Given the description of an element on the screen output the (x, y) to click on. 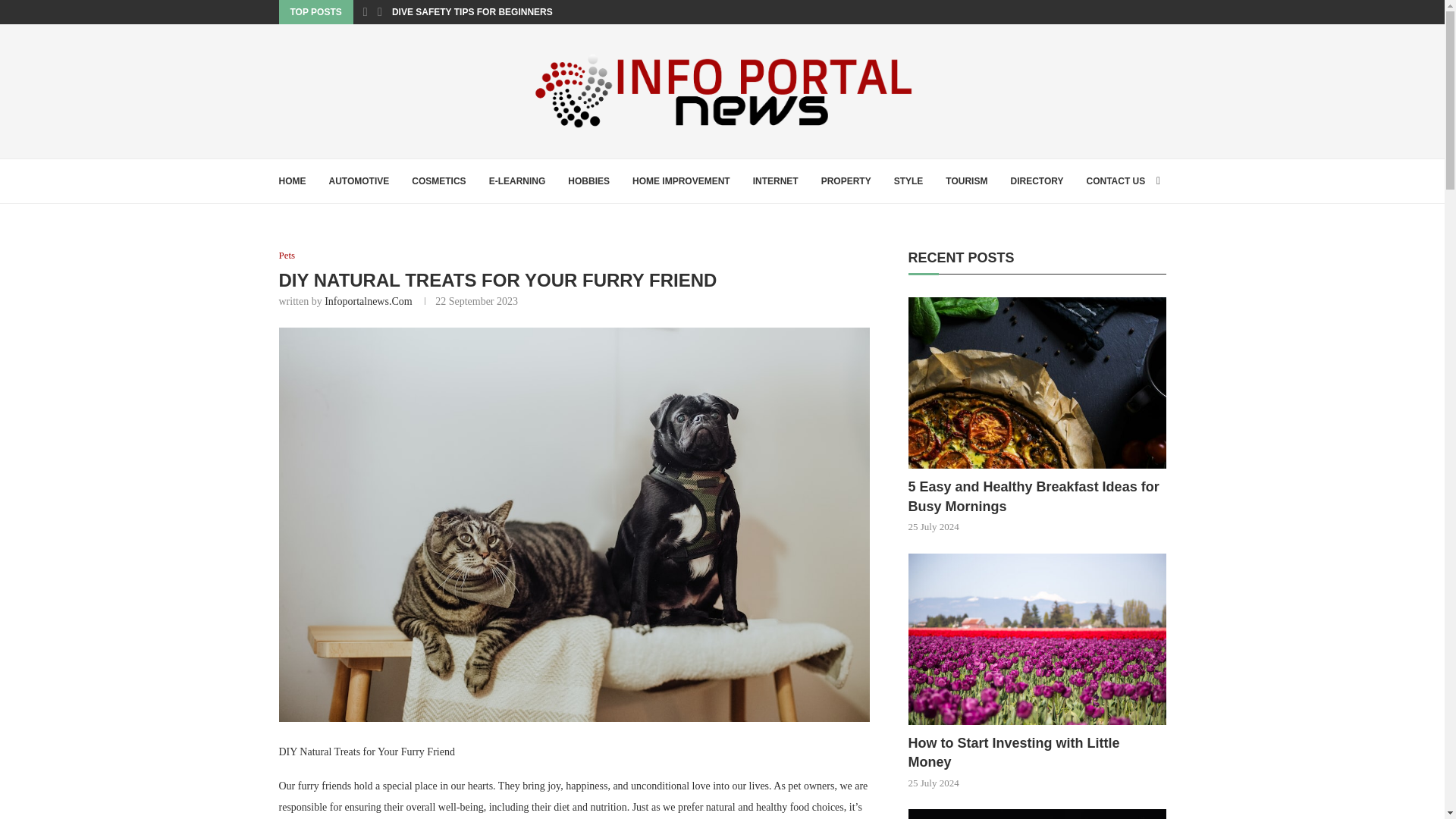
PROPERTY (845, 180)
HOME (292, 180)
CONTACT US (1115, 180)
AUTOMOTIVE (359, 180)
DIVE SAFETY TIPS FOR BEGINNERS (472, 12)
DIRECTORY (1036, 180)
STYLE (908, 180)
TOURISM (965, 180)
Pets (287, 255)
HOBBIES (588, 180)
E-LEARNING (517, 180)
COSMETICS (438, 180)
HOME IMPROVEMENT (680, 180)
INTERNET (774, 180)
